Given the description of an element on the screen output the (x, y) to click on. 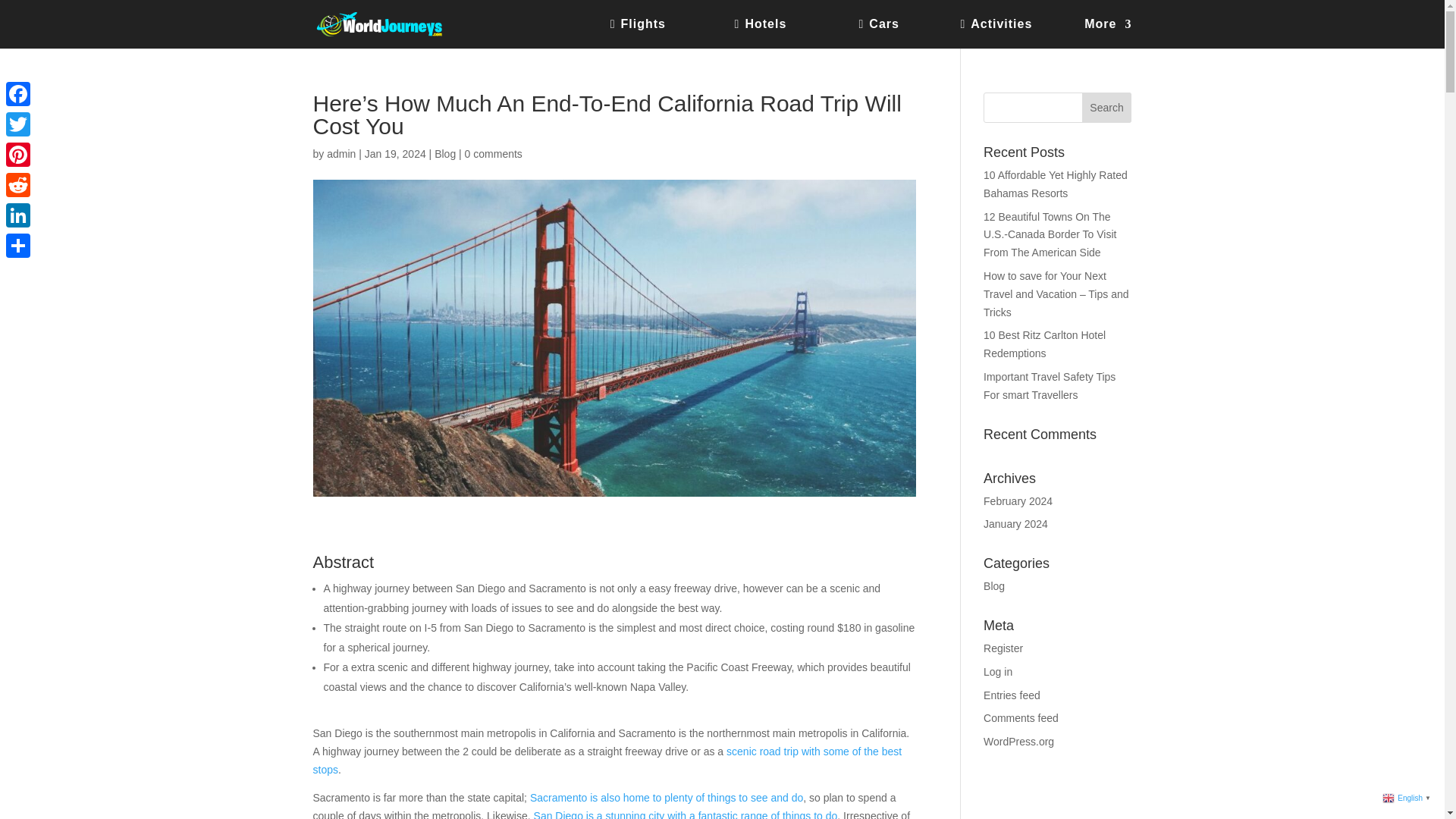
Search (1106, 107)
0 comments (493, 153)
Hotels (787, 33)
scenic road trip with some of the best stops (607, 760)
Activities (1011, 33)
Flights (662, 33)
Posts by admin (340, 153)
Sacramento is also home to plenty of things to see and do (666, 797)
admin (340, 153)
Blog (444, 153)
